Given the description of an element on the screen output the (x, y) to click on. 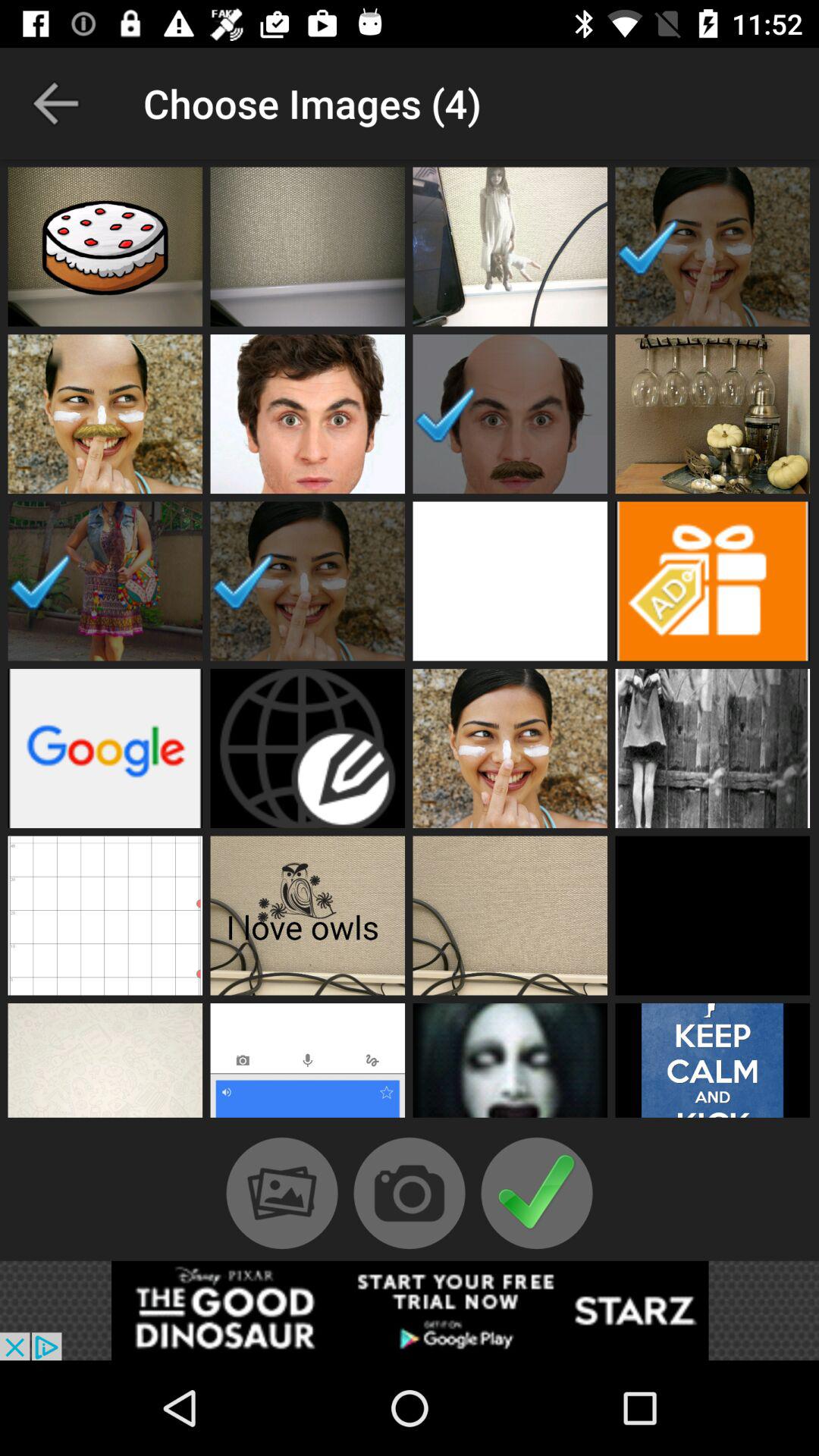
ateno para imagem do homem (509, 413)
